Given the description of an element on the screen output the (x, y) to click on. 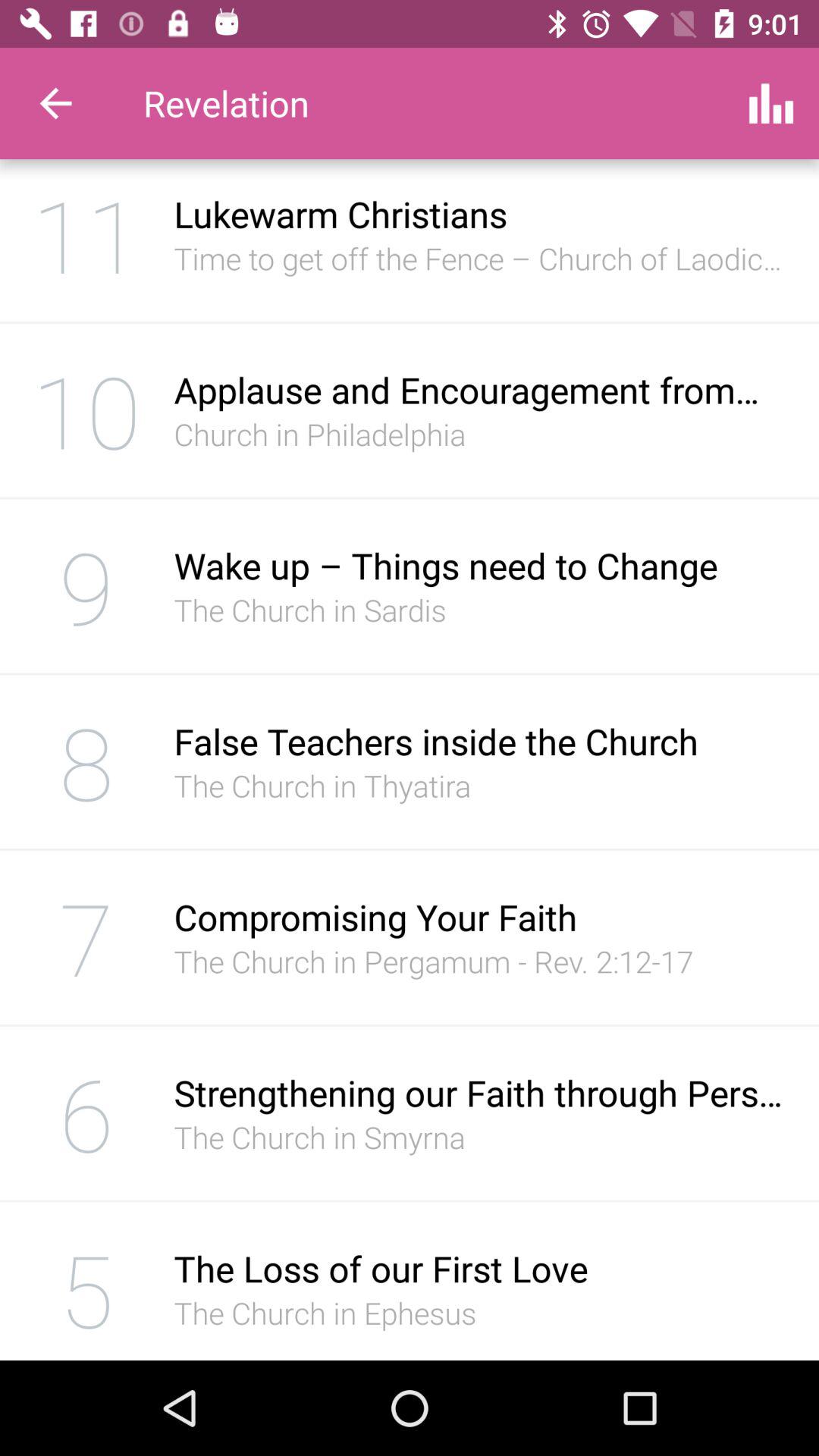
open the 7 item (86, 937)
